Given the description of an element on the screen output the (x, y) to click on. 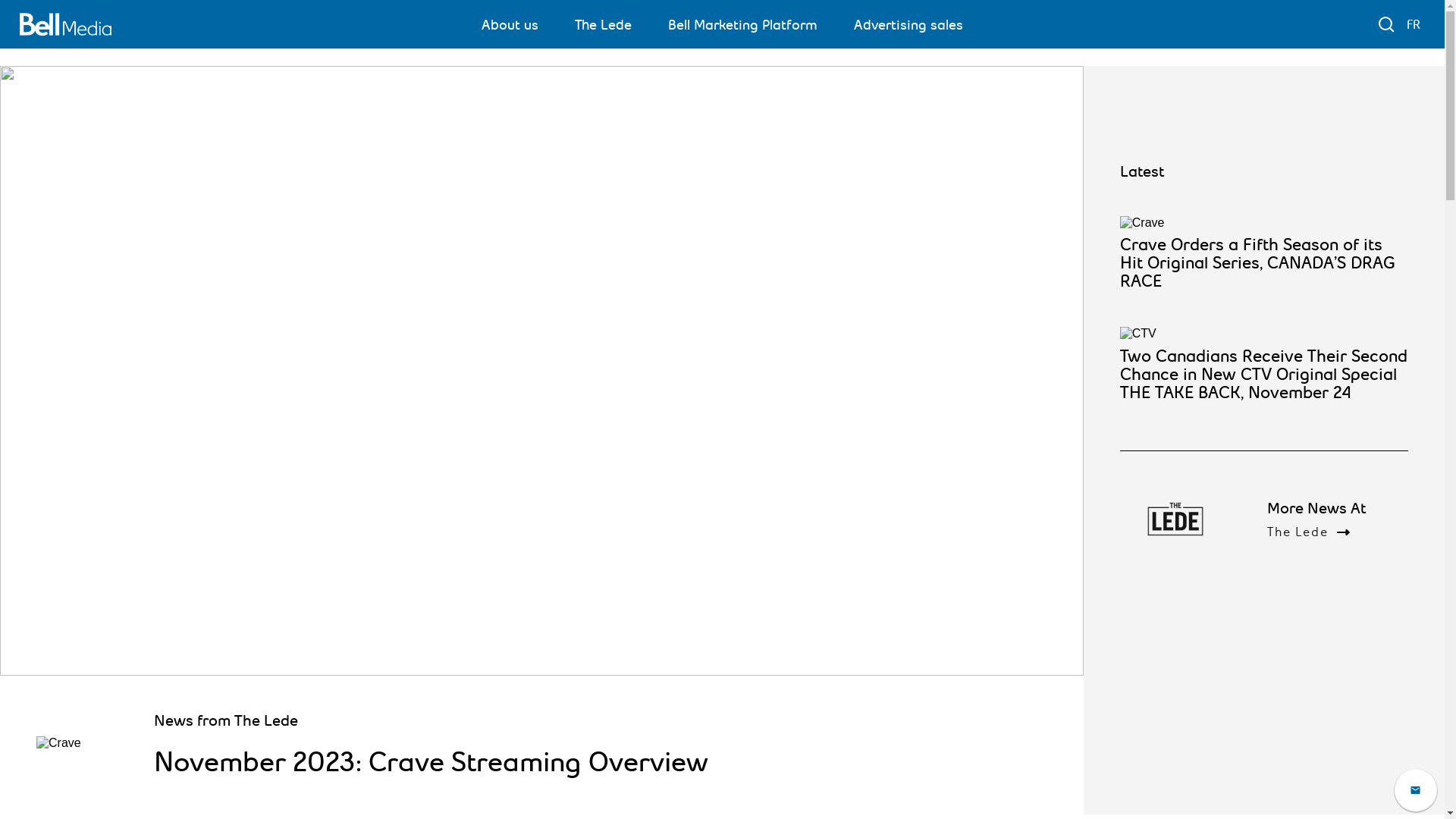
The Lede Element type: text (1320, 532)
The Lede Element type: text (602, 23)
FR Element type: text (1413, 24)
About us Element type: text (509, 23)
Advertise with us Element type: text (1415, 789)
Advertising sales Element type: text (908, 23)
Bell Marketing Platform Element type: text (742, 23)
News from The Lede
November 2023: Crave Streaming Overview Element type: text (541, 439)
